Given the description of an element on the screen output the (x, y) to click on. 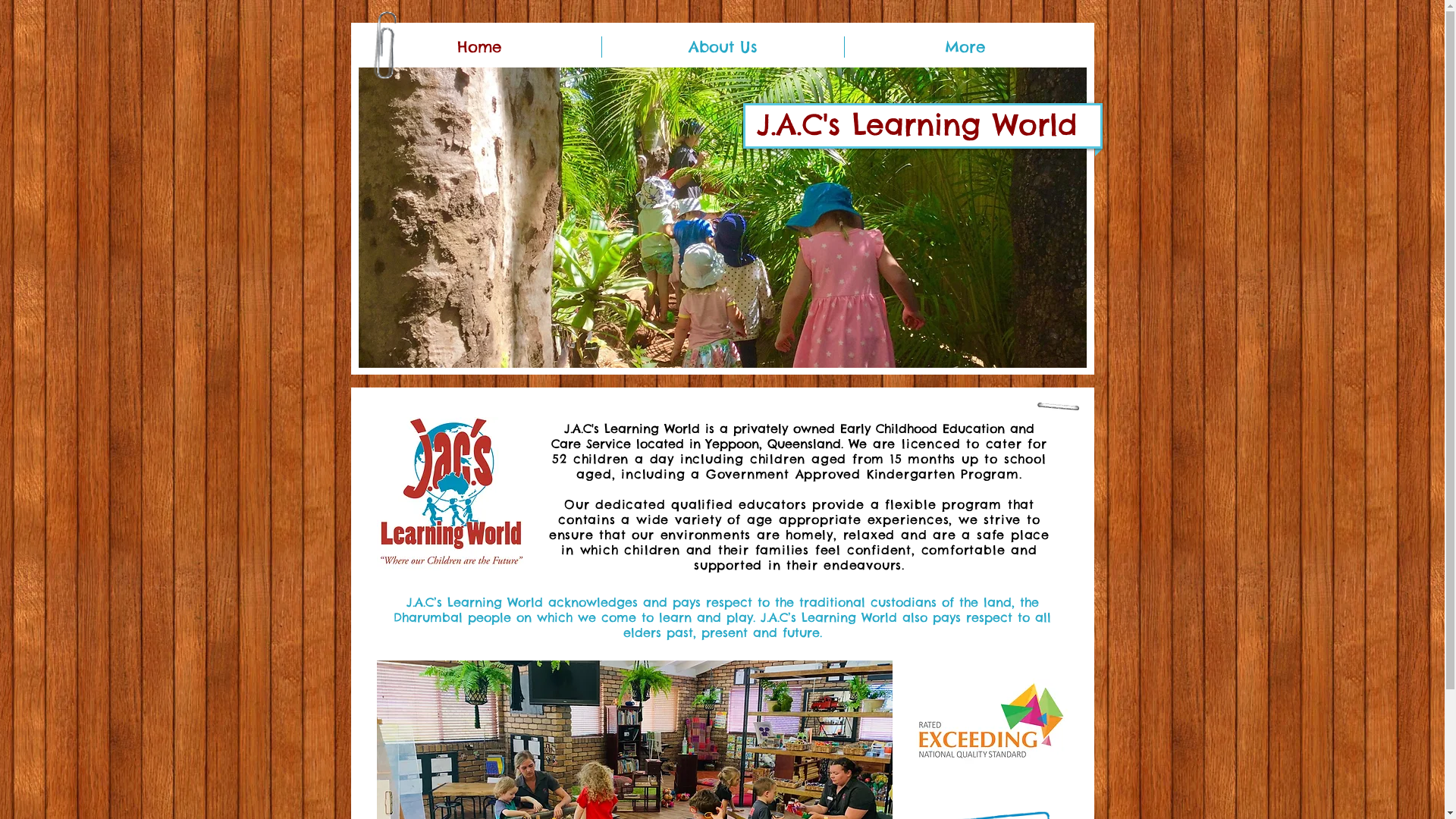
Home Element type: text (478, 46)
About Us Element type: text (723, 46)
